Given the description of an element on the screen output the (x, y) to click on. 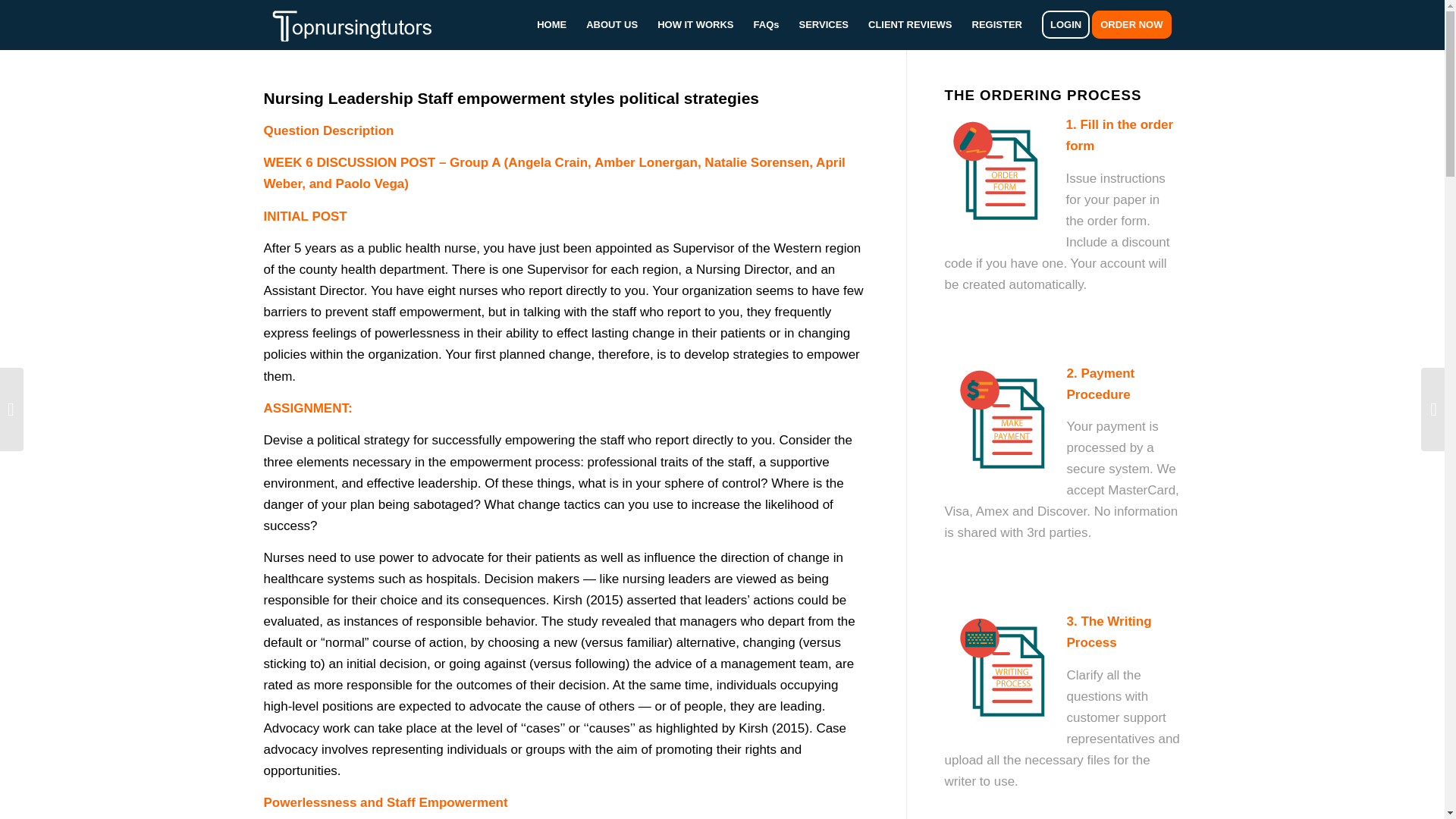
HOW IT WORKS (694, 24)
LOGIN (1065, 24)
top logo2 (362, 24)
CLIENT REVIEWS (910, 24)
SERVICES (824, 24)
FAQs (766, 24)
REGISTER (997, 24)
ORDER NOW (1136, 24)
HOME (551, 24)
ABOUT US (611, 24)
